Given the description of an element on the screen output the (x, y) to click on. 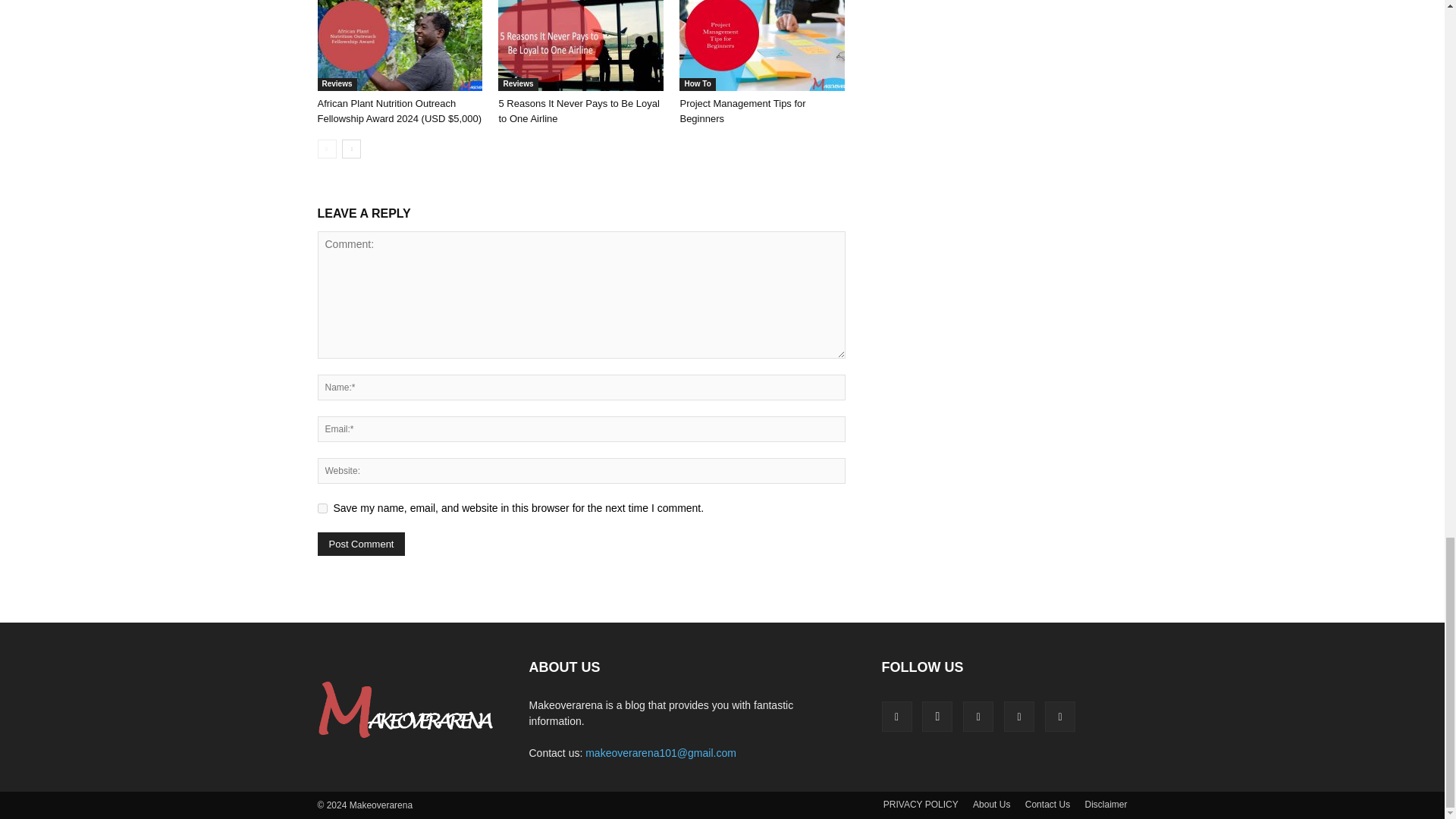
Post Comment (360, 544)
yes (321, 508)
